Given the description of an element on the screen output the (x, y) to click on. 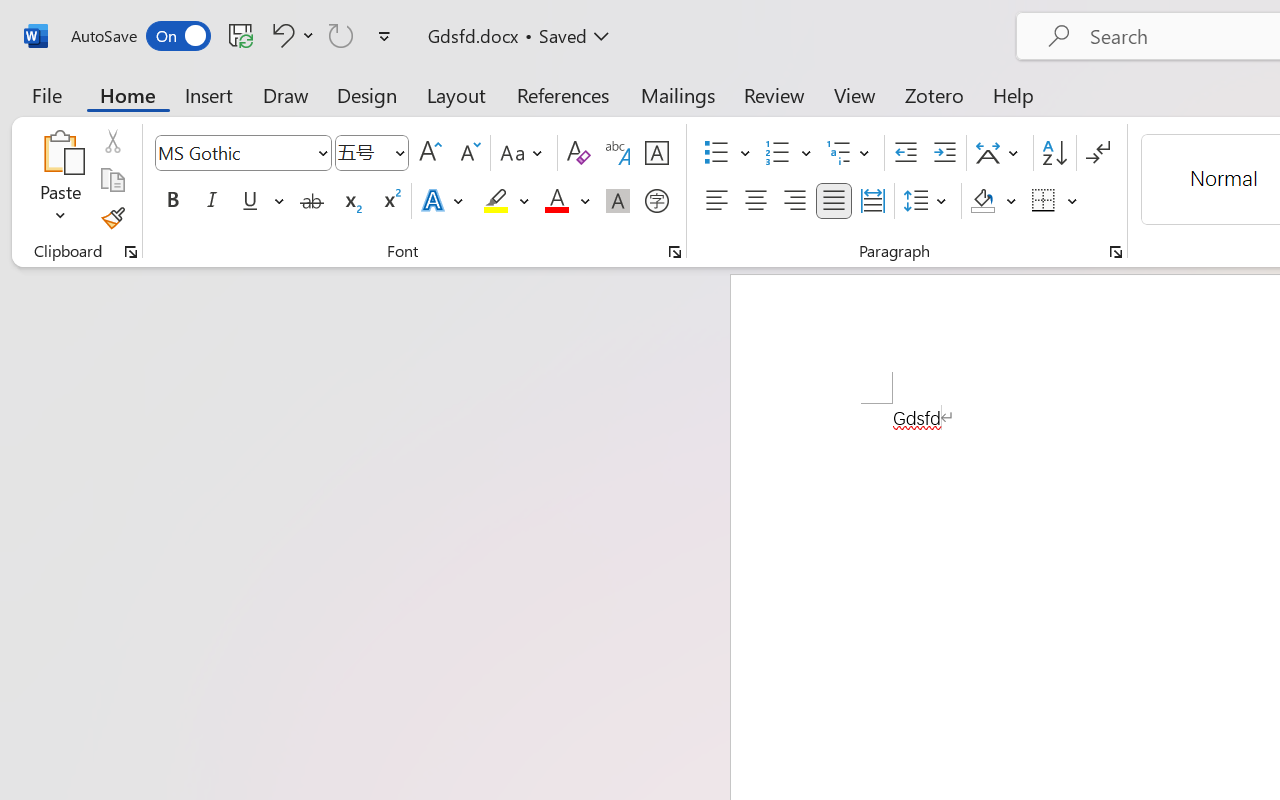
Multilevel List (850, 153)
Sort... (1054, 153)
